Given the description of an element on the screen output the (x, y) to click on. 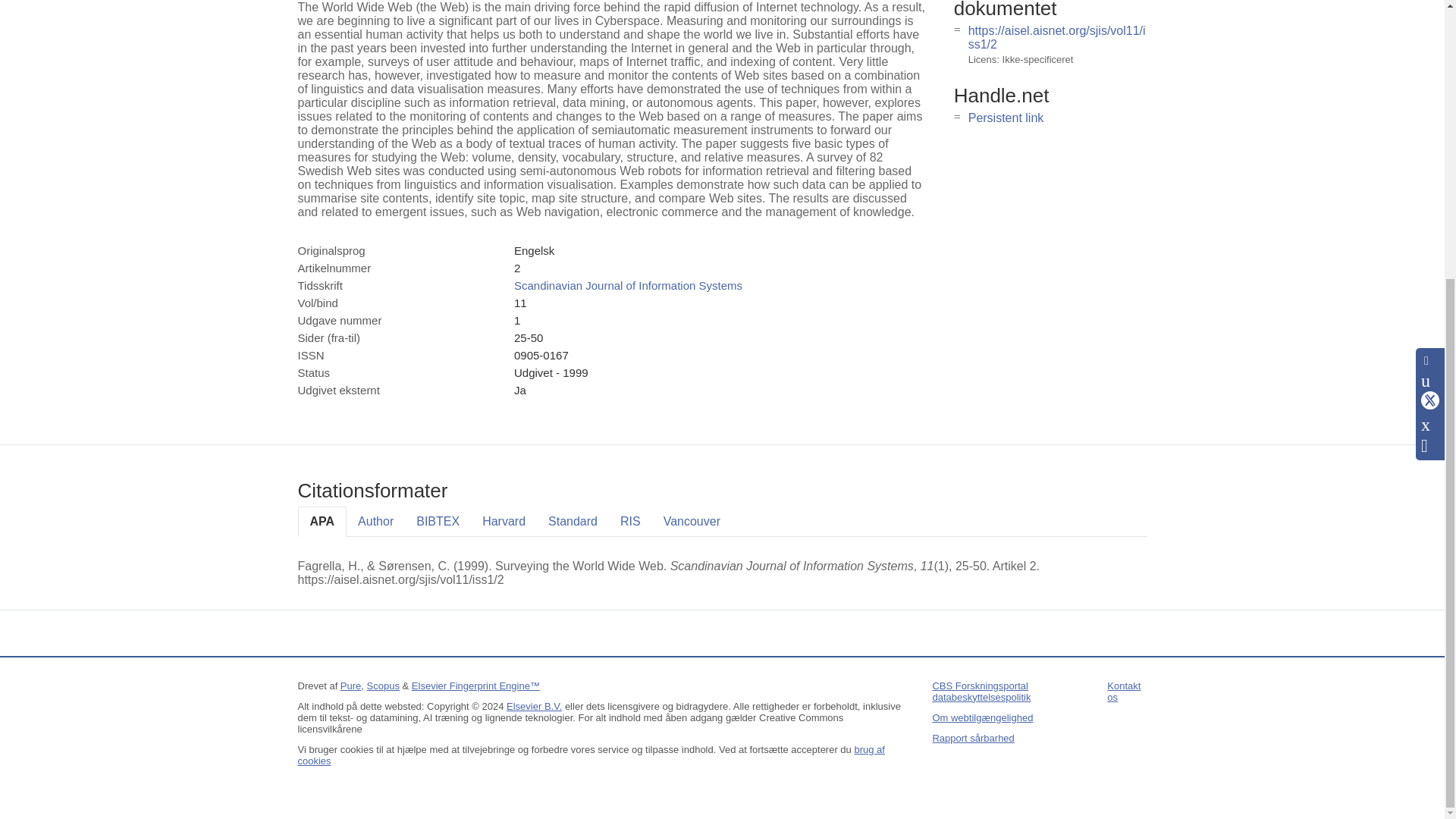
Elsevier B.V. (534, 706)
brug af cookies (590, 754)
Pure (350, 685)
CBS Forskningsportal databeskyttelsespolitik (980, 691)
Scopus (382, 685)
Scandinavian Journal of Information Systems (627, 285)
Persistent link (1005, 117)
Kontakt os (1123, 691)
